Given the description of an element on the screen output the (x, y) to click on. 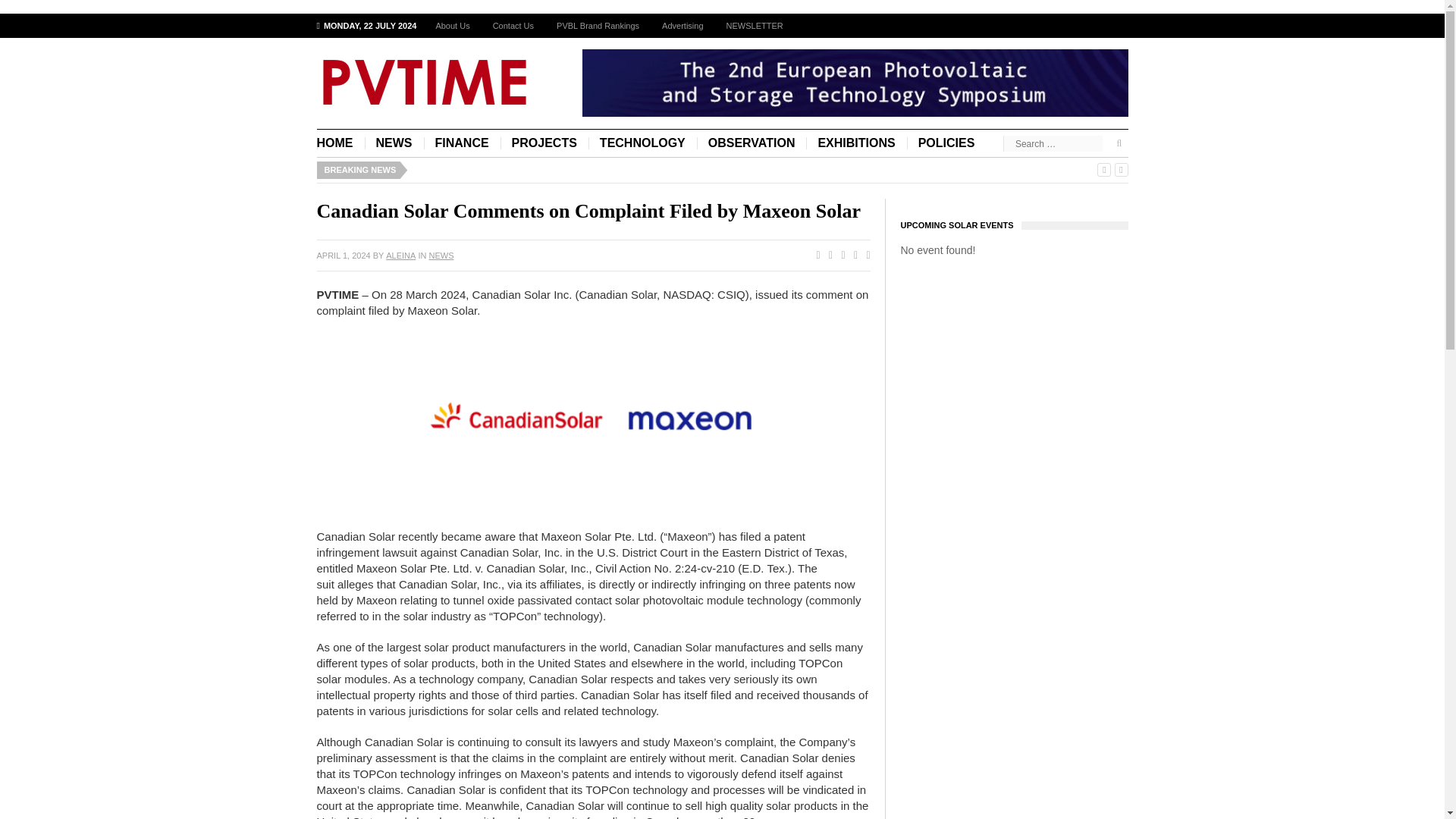
HOME (341, 142)
NEWSLETTER (754, 25)
OBSERVATION (751, 142)
EXHIBITIONS (855, 142)
POLICIES (947, 142)
TECHNOLOGY (642, 142)
About Us (451, 25)
Contact Us (512, 25)
GooglePlus (839, 255)
PVBL Brand Rankings (597, 25)
FINANCE (461, 142)
Twitter (827, 255)
NEWS (441, 255)
Pinterest (852, 255)
Facebook (814, 255)
